Given the description of an element on the screen output the (x, y) to click on. 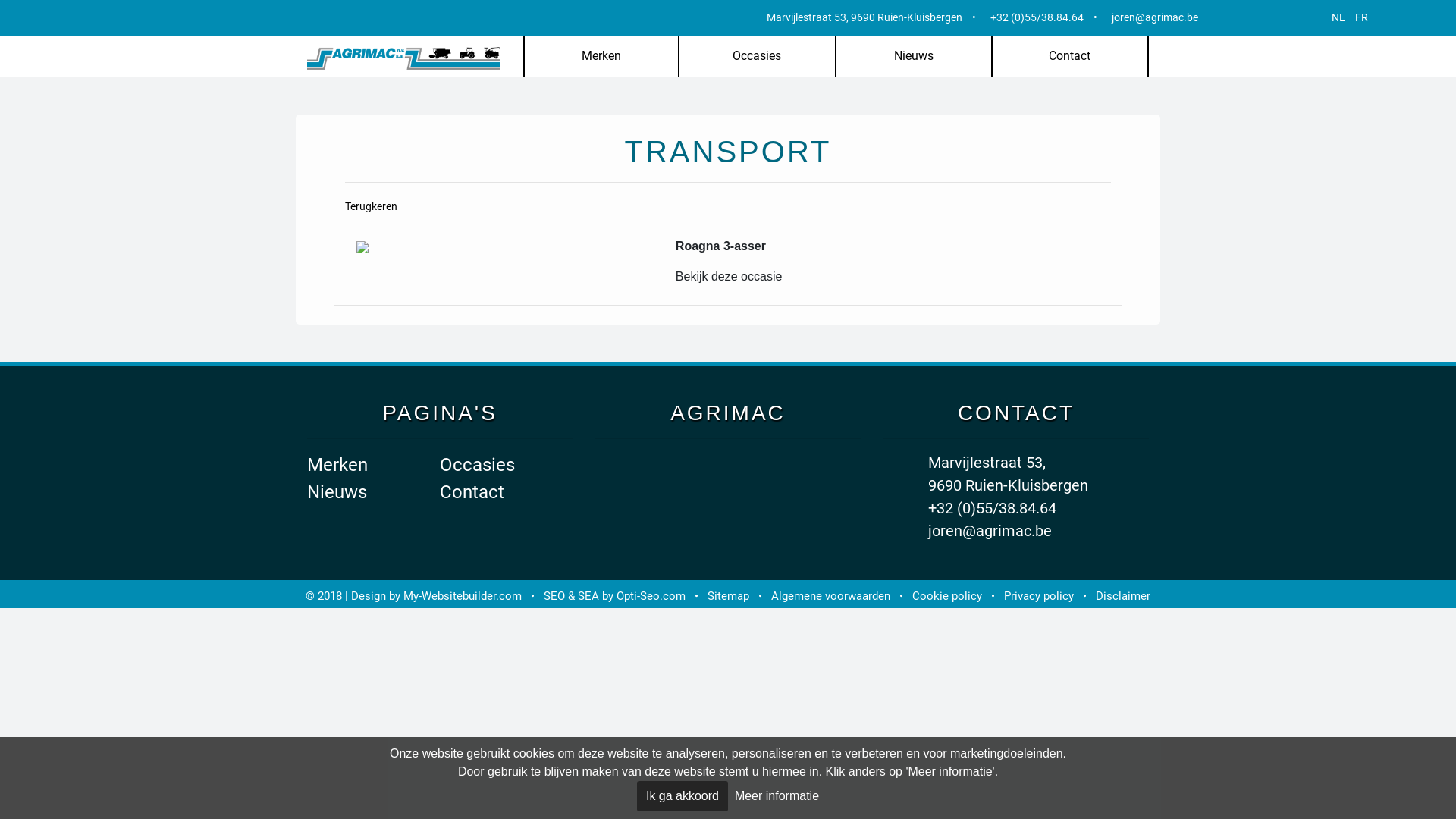
Merken Element type: text (337, 464)
FR Element type: text (1361, 17)
+32 (0)55/38.84.64 Element type: text (1036, 17)
My-Websitebuilder.com Element type: text (462, 595)
Privacy policy Element type: text (1038, 595)
Terugkeren Element type: text (371, 206)
Occasies Element type: text (476, 464)
Nieuws Element type: text (912, 55)
joren@agrimac.be Element type: text (989, 530)
joren@agrimac.be Element type: text (1154, 17)
Nieuws Element type: text (337, 491)
Ik ga akkoord Element type: text (682, 796)
Occasies Element type: text (756, 55)
Opti-Seo.com Element type: text (650, 595)
Algemene voorwaarden Element type: text (830, 595)
Cookie policy Element type: text (947, 595)
Meer informatie Element type: text (776, 795)
Bekijk deze occasie Element type: text (728, 275)
Contact Element type: text (1069, 55)
Disclaimer Element type: text (1122, 595)
Merken Element type: text (600, 55)
NL Element type: text (1338, 17)
Contact Element type: text (471, 491)
+32 (0)55/38.84.64 Element type: text (992, 507)
Sitemap Element type: text (728, 595)
